Given the description of an element on the screen output the (x, y) to click on. 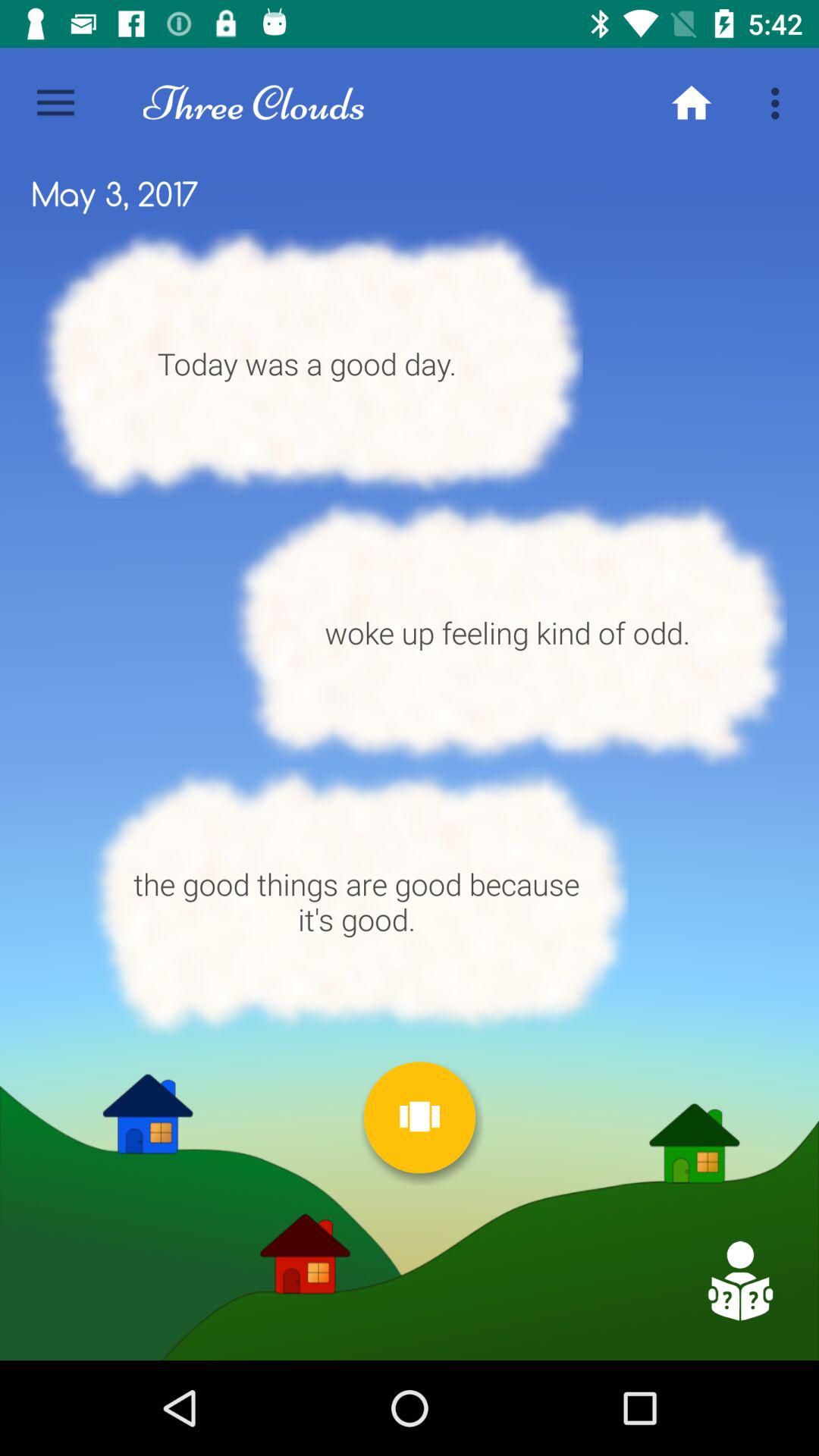
choose next (419, 1117)
